Given the description of an element on the screen output the (x, y) to click on. 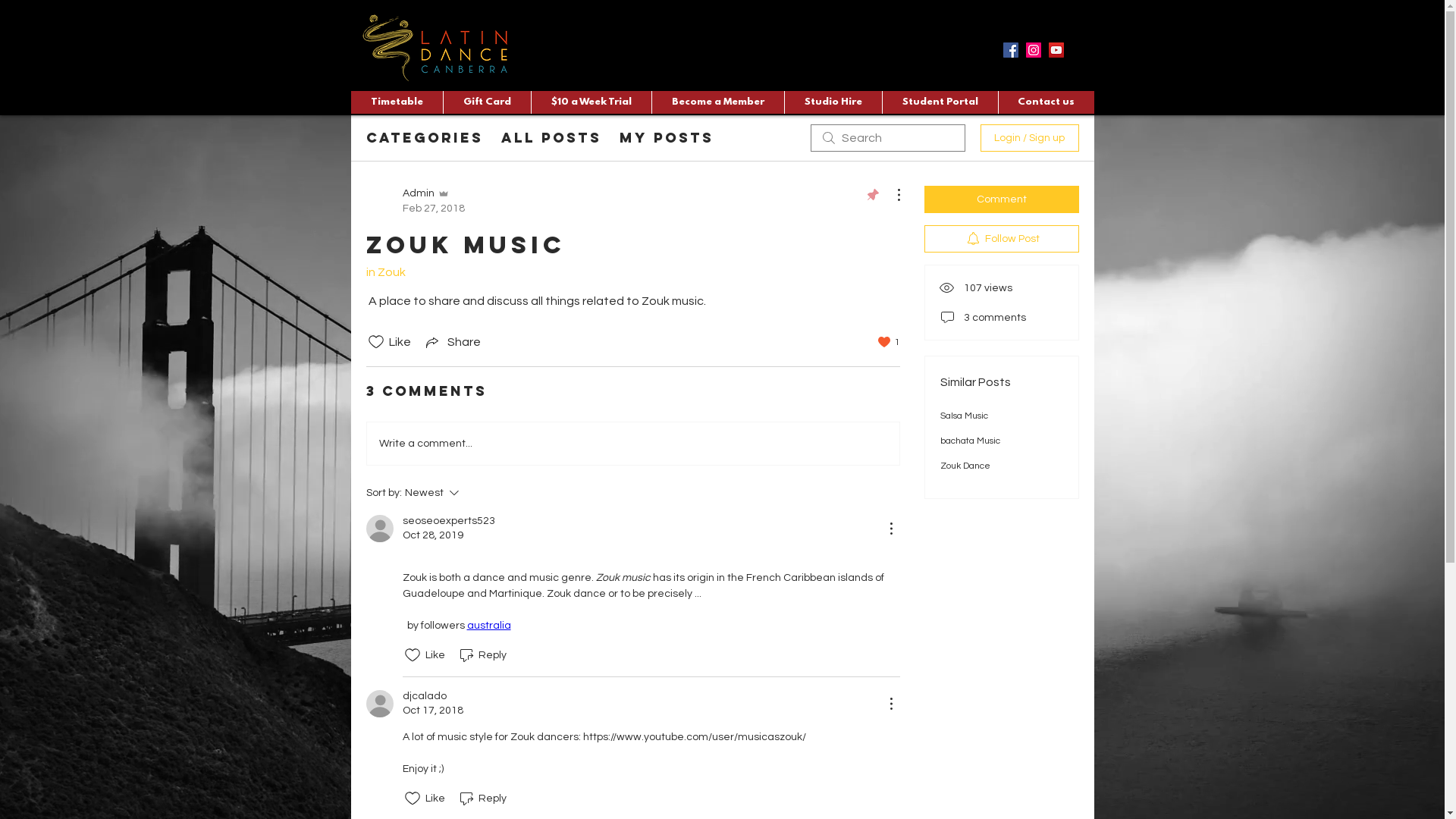
australia Element type: text (489, 625)
Contact us Element type: text (1045, 102)
My Posts Element type: text (665, 137)
Share Element type: text (451, 341)
Become a Member Element type: text (716, 102)
Login / Sign up Element type: text (1028, 137)
Gift Card Element type: text (486, 102)
Sort by:
Newest Element type: text (471, 492)
Salsa Music Element type: text (964, 415)
Follow Post Element type: text (1000, 238)
Timetable Element type: text (396, 102)
Zouk Dance Element type: text (965, 465)
All Posts Element type: text (550, 137)
Studio Hire Element type: text (832, 102)
bachata Music Element type: text (970, 440)
Reply Element type: text (480, 798)
1 Element type: text (889, 341)
in Zouk Element type: text (384, 272)
Comment Element type: text (1000, 199)
Categories Element type: text (423, 137)
Reply Element type: text (480, 655)
Write a comment... Element type: text (633, 443)
Student Portal Element type: text (939, 102)
$10 a Week Trial Element type: text (590, 102)
